Given the description of an element on the screen output the (x, y) to click on. 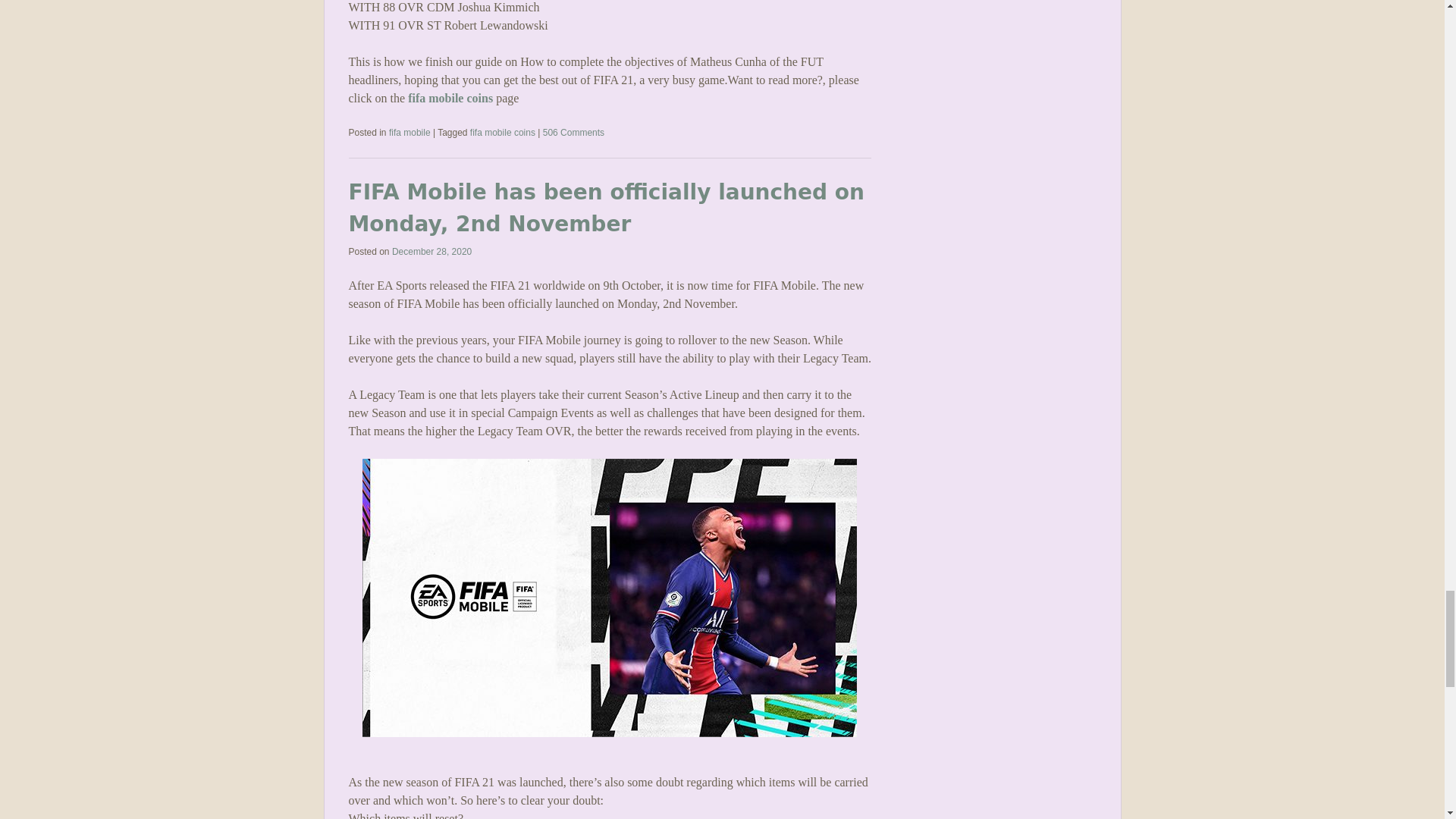
December 28, 2020 (431, 251)
fifa mobile coins (450, 97)
fifa mobile (409, 132)
506 Comments (573, 132)
9:05 am (431, 251)
fifa mobile coins (502, 132)
